Given the description of an element on the screen output the (x, y) to click on. 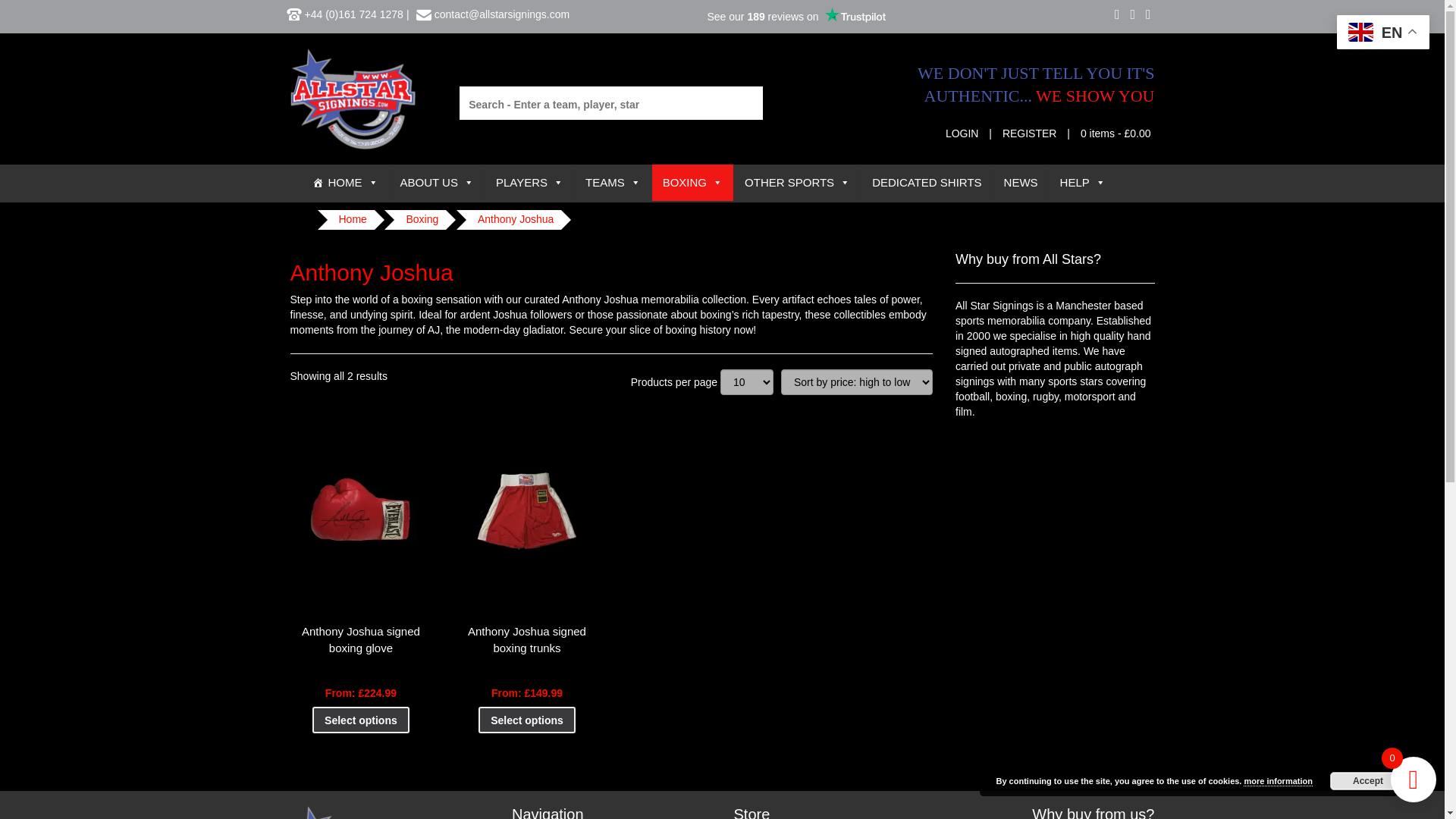
Customer reviews powered by Trustpilot (796, 16)
Basket (1115, 133)
Anthony Joshua (515, 219)
REGISTER (1030, 133)
Boxing (421, 219)
Home (352, 219)
LOGIN (961, 133)
